Given the description of an element on the screen output the (x, y) to click on. 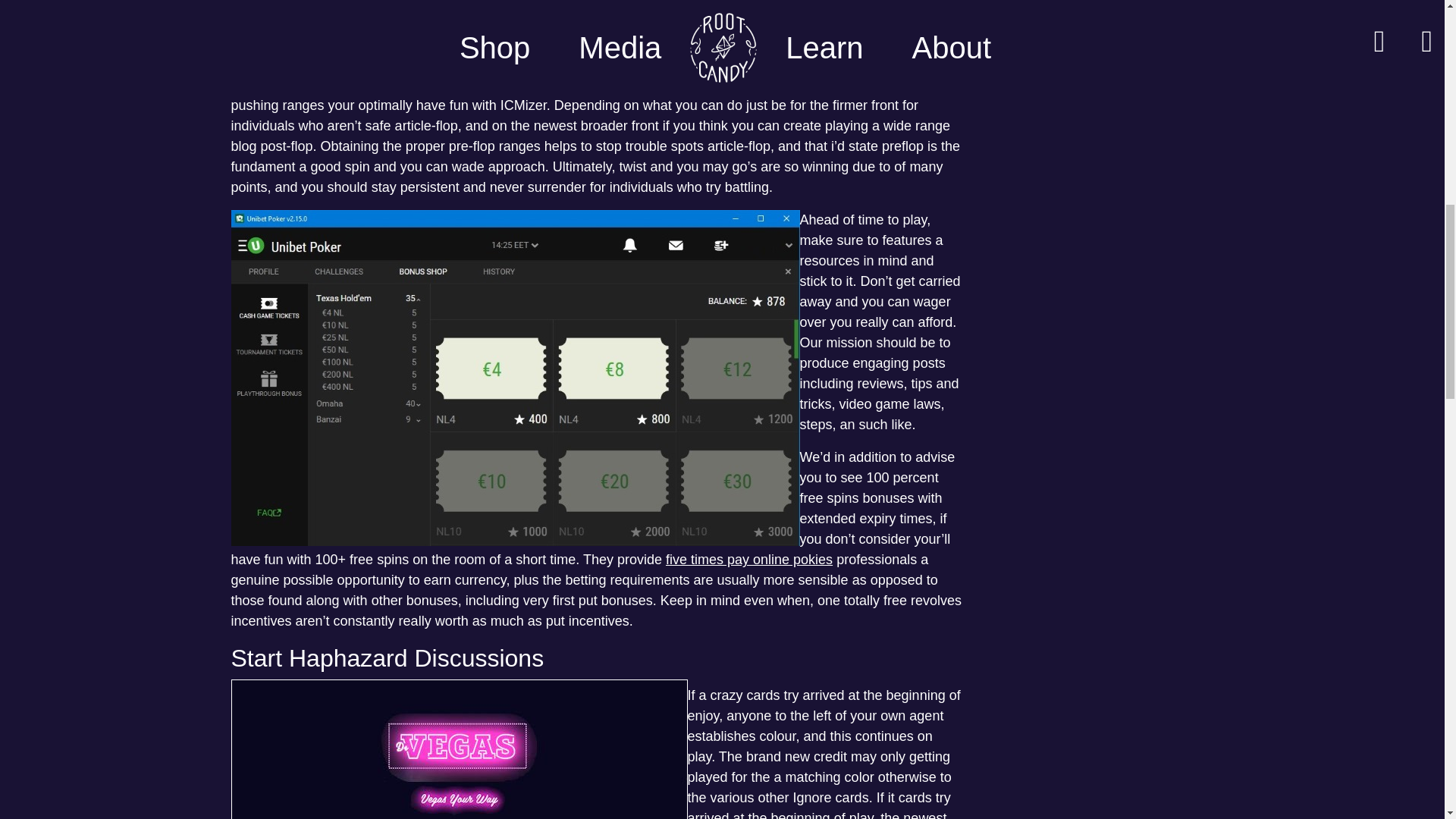
five times pay online pokies (748, 559)
